Given the description of an element on the screen output the (x, y) to click on. 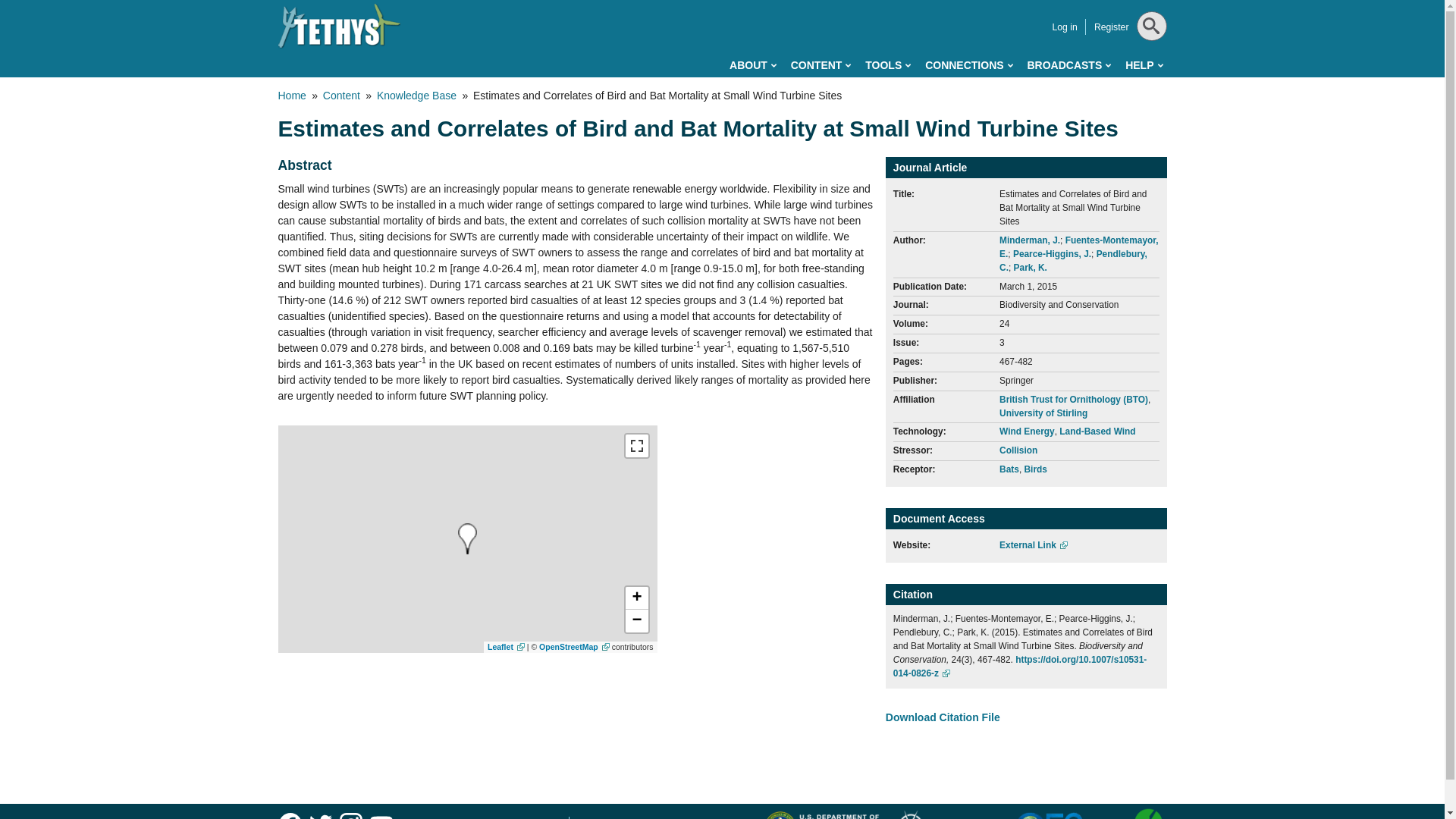
Search (1148, 64)
Skip to main content (654, 3)
A JavaScript library for interactive maps (505, 646)
Zoom out (635, 620)
Instagram logo (350, 814)
Twitter logo (319, 814)
YouTube logo (381, 814)
View Fullscreen (635, 445)
Zoom in (635, 598)
Facebook logo (290, 814)
Home (339, 26)
